Given the description of an element on the screen output the (x, y) to click on. 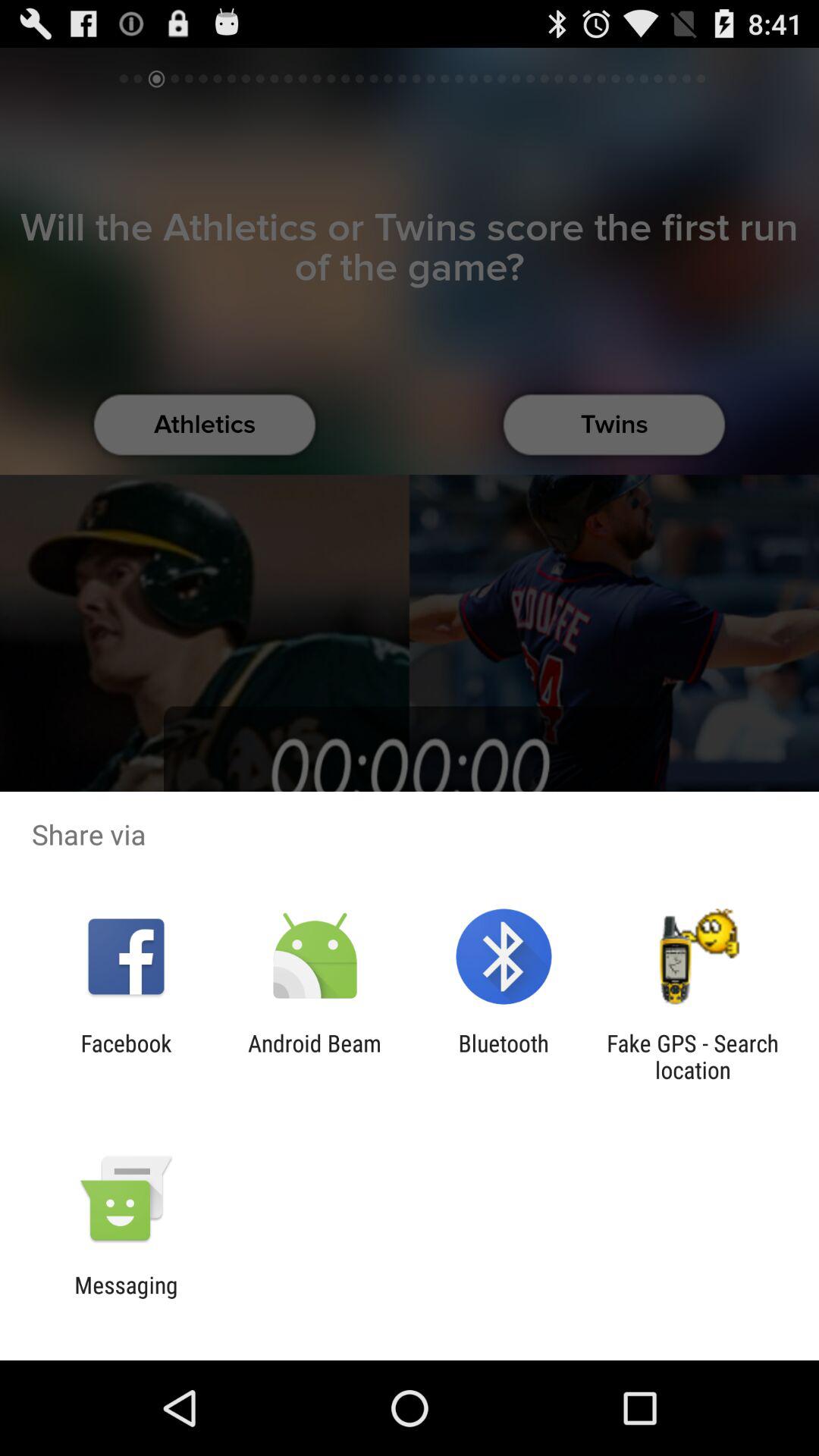
turn on the icon next to the android beam icon (503, 1056)
